Given the description of an element on the screen output the (x, y) to click on. 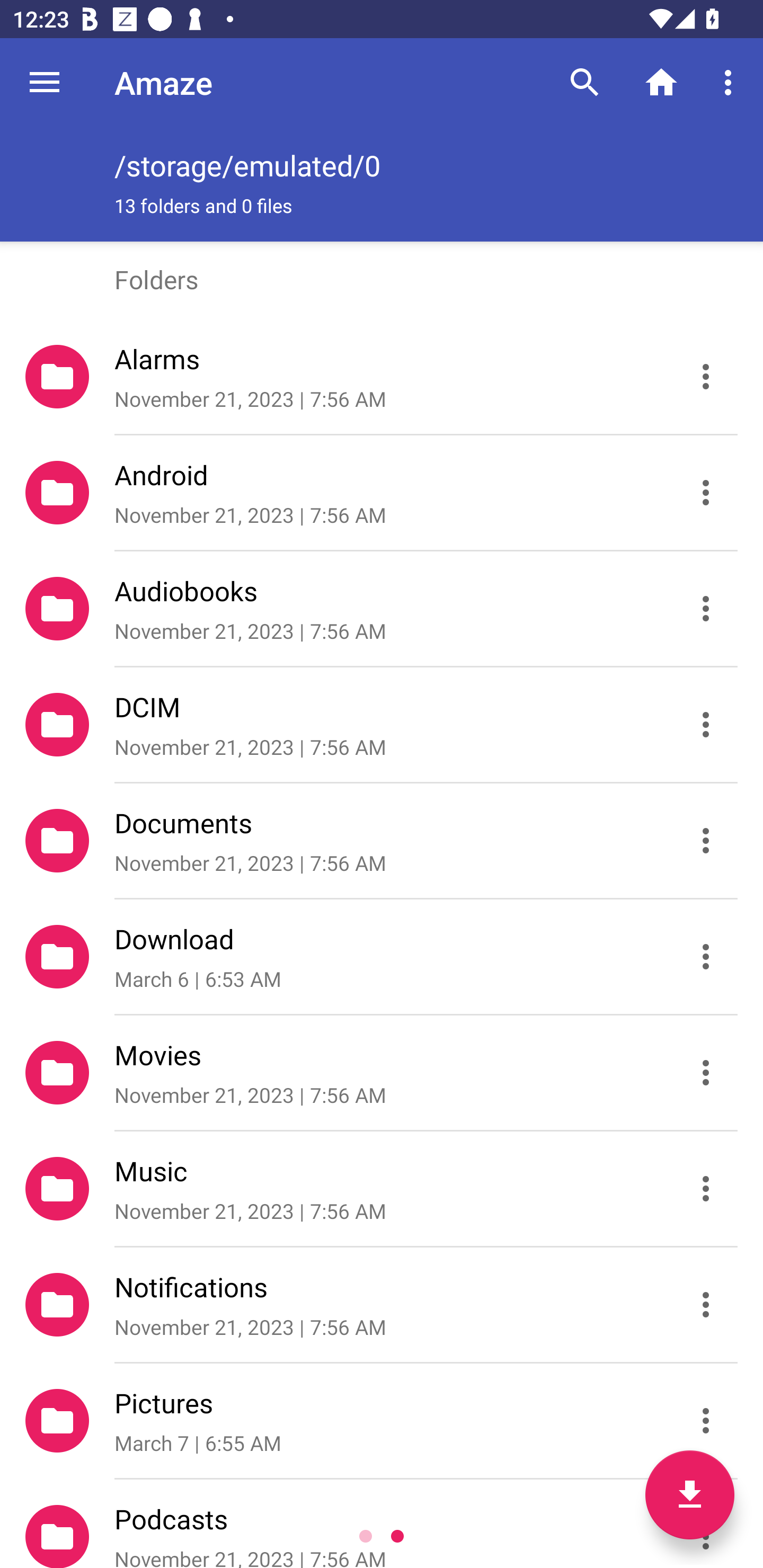
Navigate up (44, 82)
Search (585, 81)
Home (661, 81)
More options (731, 81)
Alarms November 21, 2023 | 7:56 AM (381, 376)
Android November 21, 2023 | 7:56 AM (381, 492)
Audiobooks November 21, 2023 | 7:56 AM (381, 608)
DCIM November 21, 2023 | 7:56 AM (381, 724)
Documents November 21, 2023 | 7:56 AM (381, 841)
Download March 6 | 6:53 AM (381, 957)
Movies November 21, 2023 | 7:56 AM (381, 1073)
Music November 21, 2023 | 7:56 AM (381, 1189)
Notifications November 21, 2023 | 7:56 AM (381, 1305)
Pictures March 7 | 6:55 AM (381, 1421)
Podcasts November 21, 2023 | 7:56 AM (381, 1524)
